Given the description of an element on the screen output the (x, y) to click on. 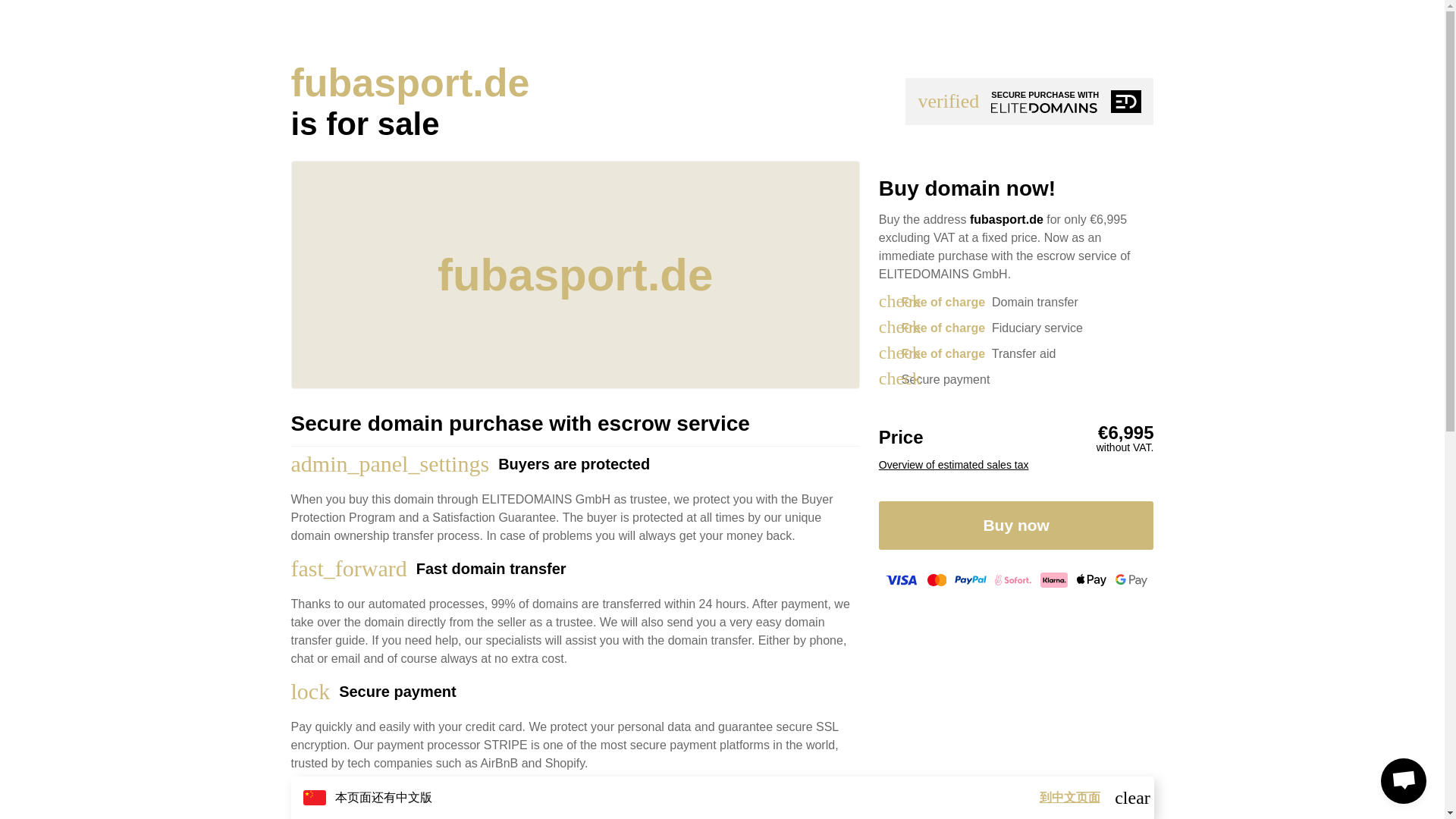
Buy now (1016, 525)
